Given the description of an element on the screen output the (x, y) to click on. 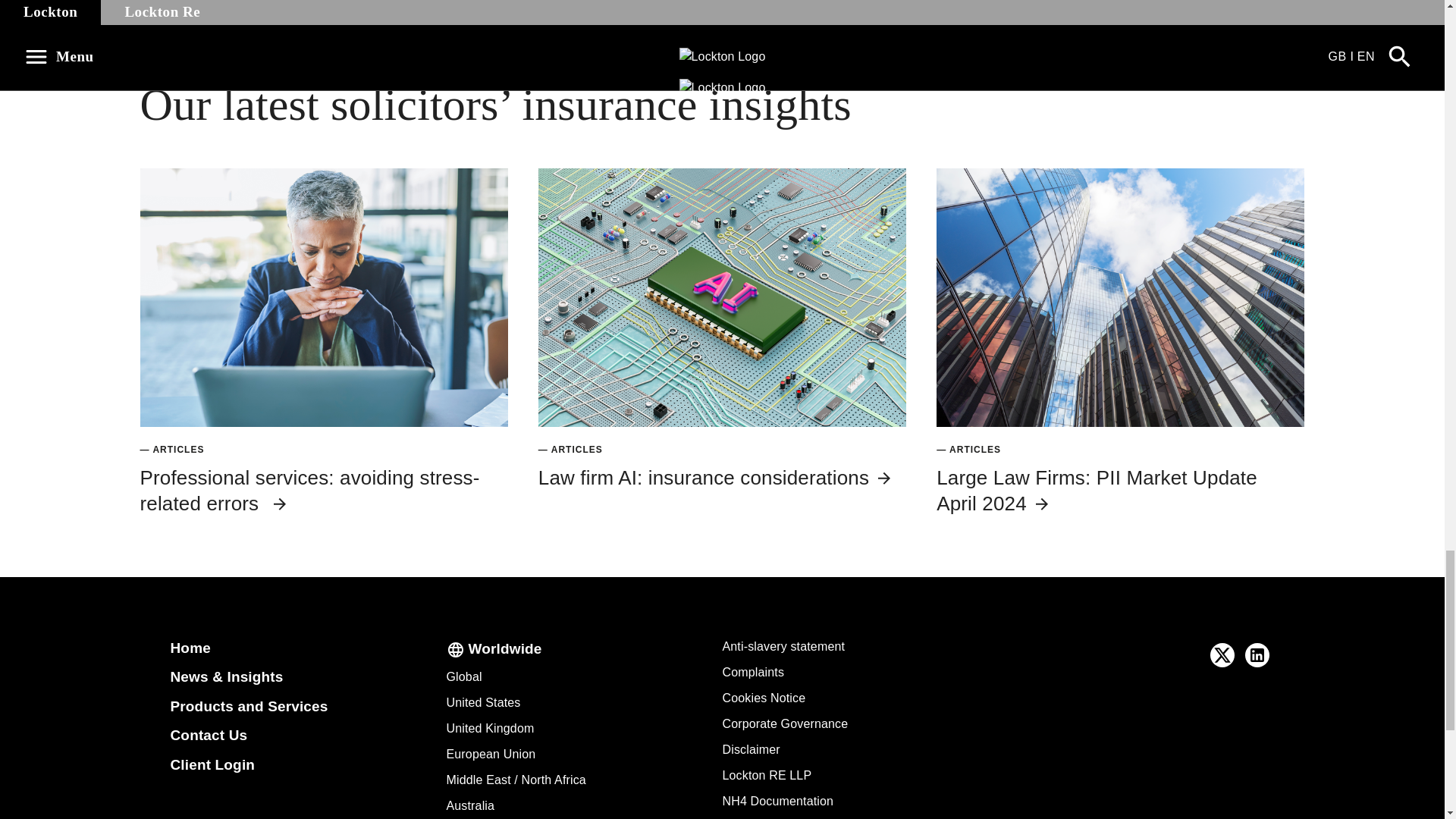
Large Law Firms: PII Market Update April 2024 (1096, 490)
Contact Us (208, 734)
Client Login (212, 764)
United Kingdom (489, 727)
Products and Services (248, 706)
Professional services: avoiding stress-related errors (309, 490)
Follow Lockton on LinkedIn (1256, 654)
Australia (470, 805)
European Union (490, 753)
Law firm AI: insurance considerations (715, 477)
